Given the description of an element on the screen output the (x, y) to click on. 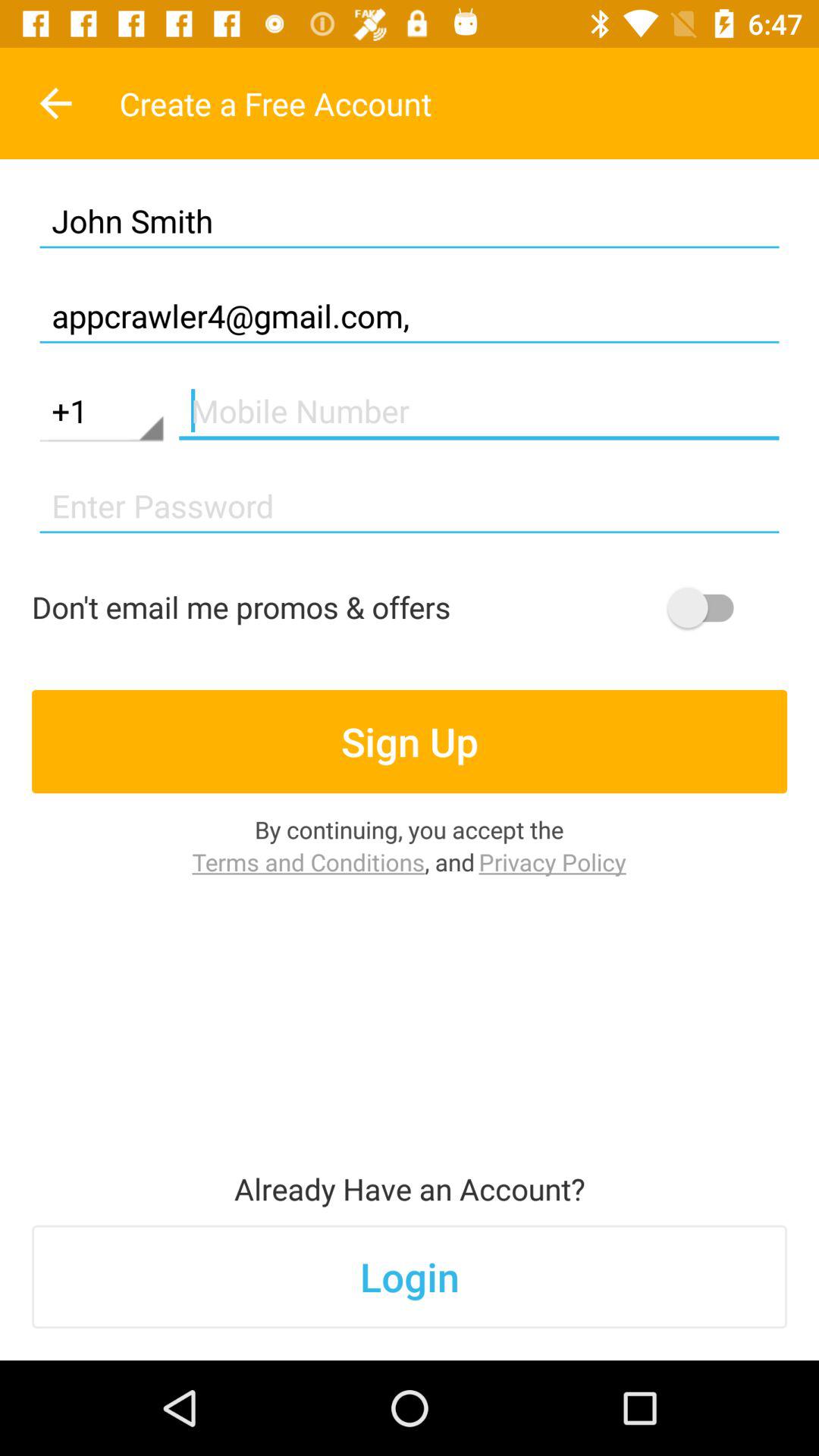
toggle on (708, 607)
